Given the description of an element on the screen output the (x, y) to click on. 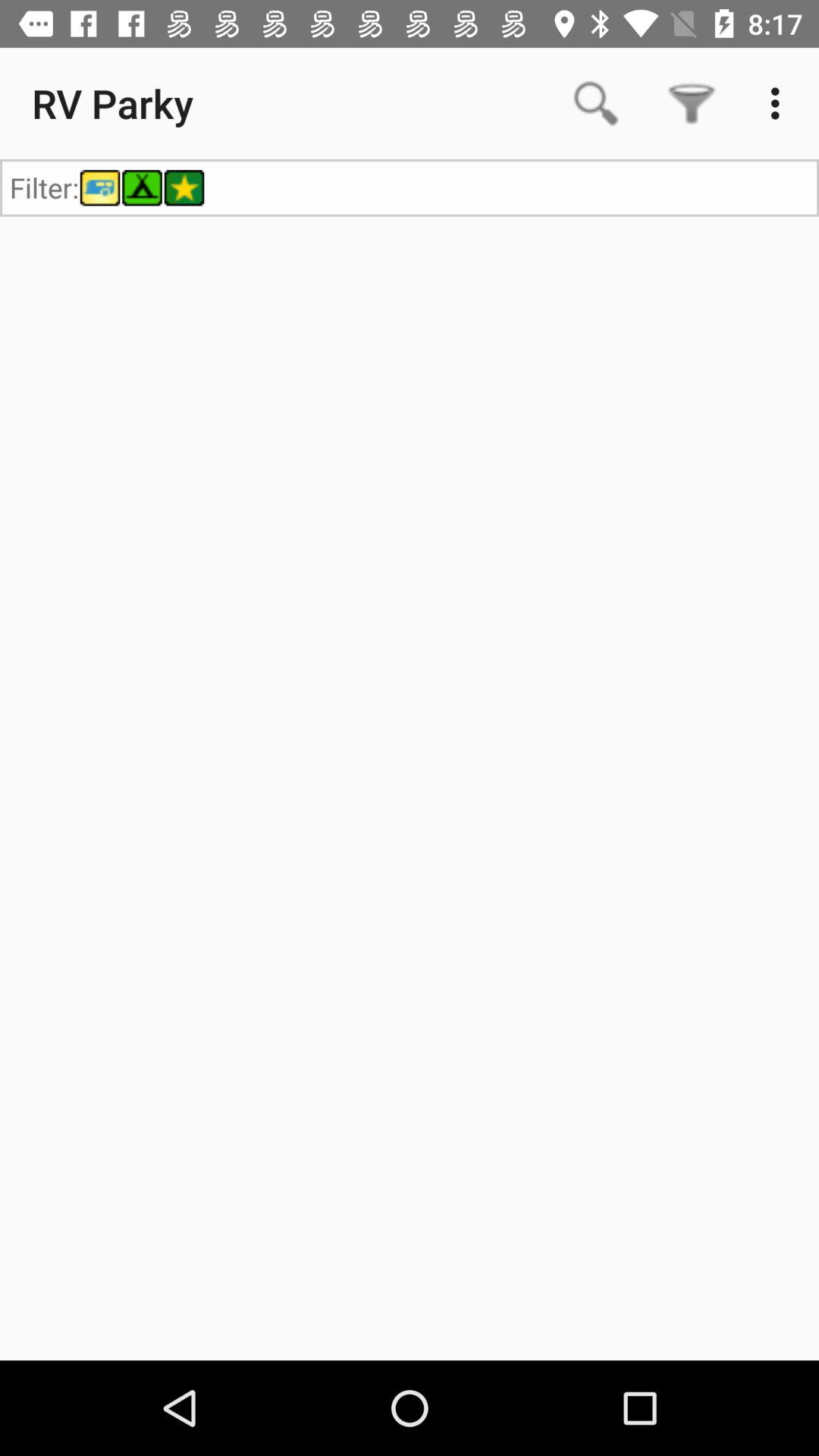
choose icon next to rv parky item (595, 103)
